Given the description of an element on the screen output the (x, y) to click on. 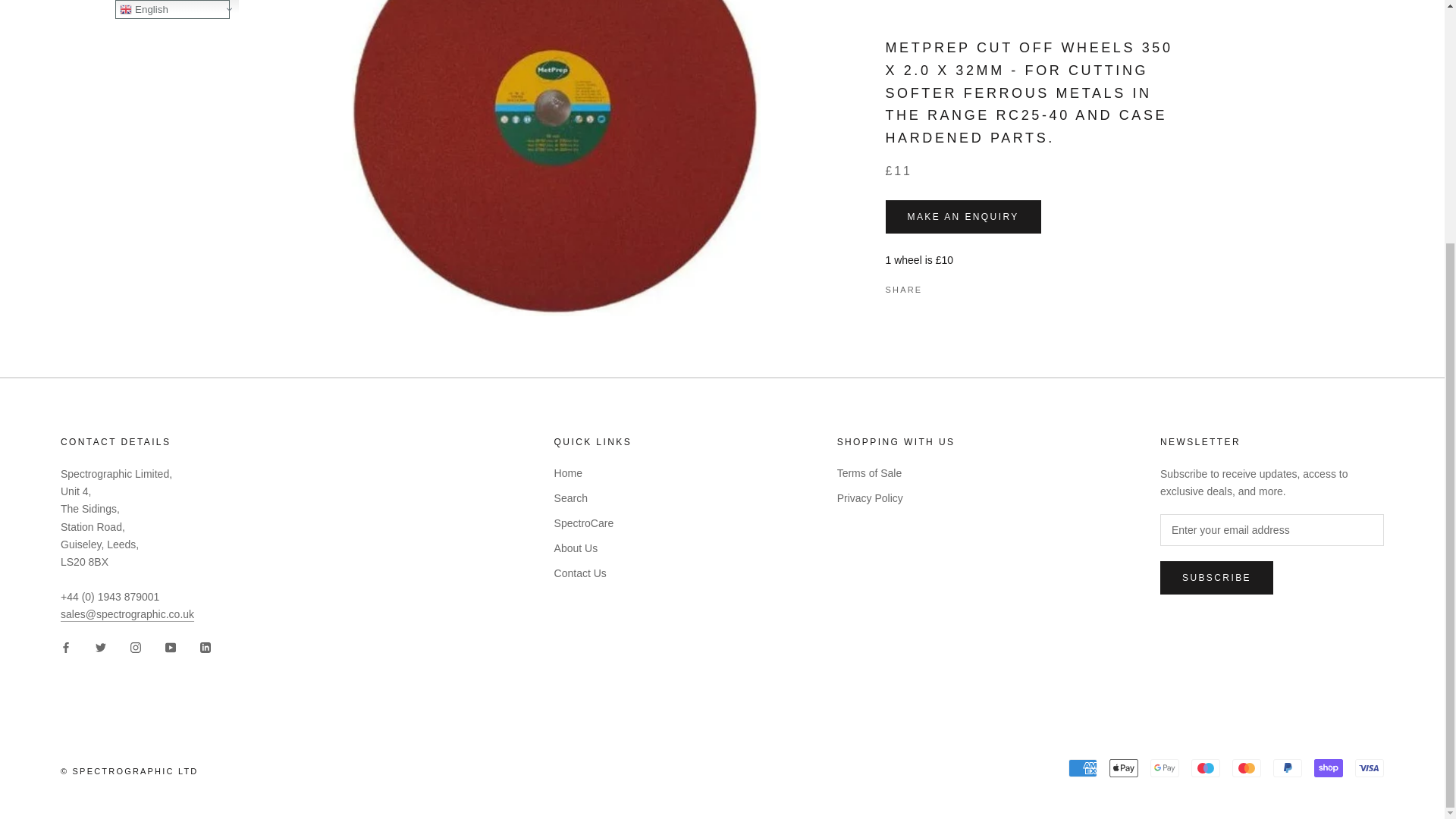
Google Pay (1164, 768)
Visa (1369, 768)
Shop Pay (1328, 768)
Apple Pay (1123, 768)
PayPal (1286, 768)
Maestro (1205, 768)
Mastercard (1245, 768)
American Express (1082, 768)
